Given the description of an element on the screen output the (x, y) to click on. 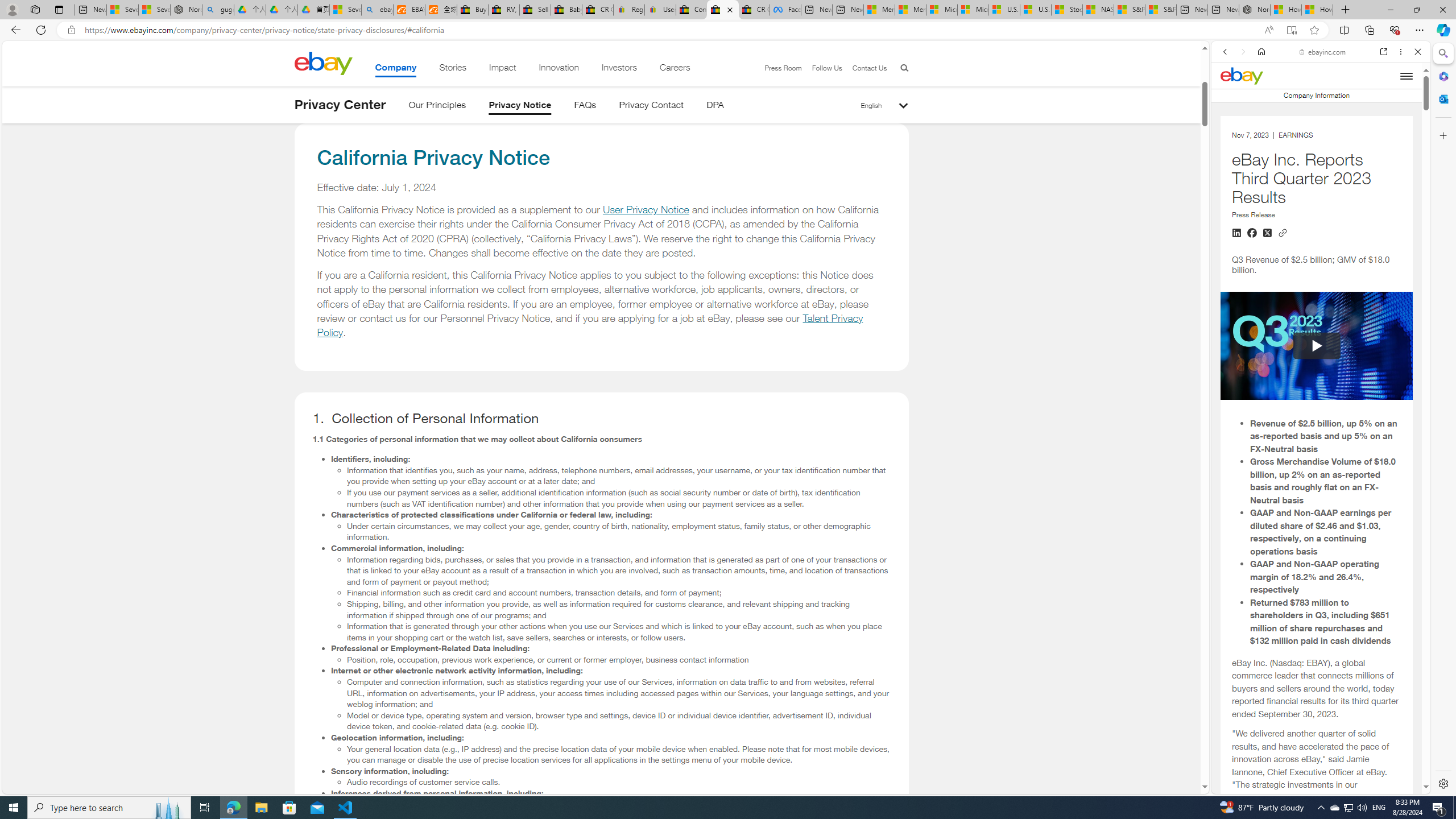
is including a word (1315, 715)
U.S. State Privacy Disclosures - eBay Inc. (722, 9)
